Given the description of an element on the screen output the (x, y) to click on. 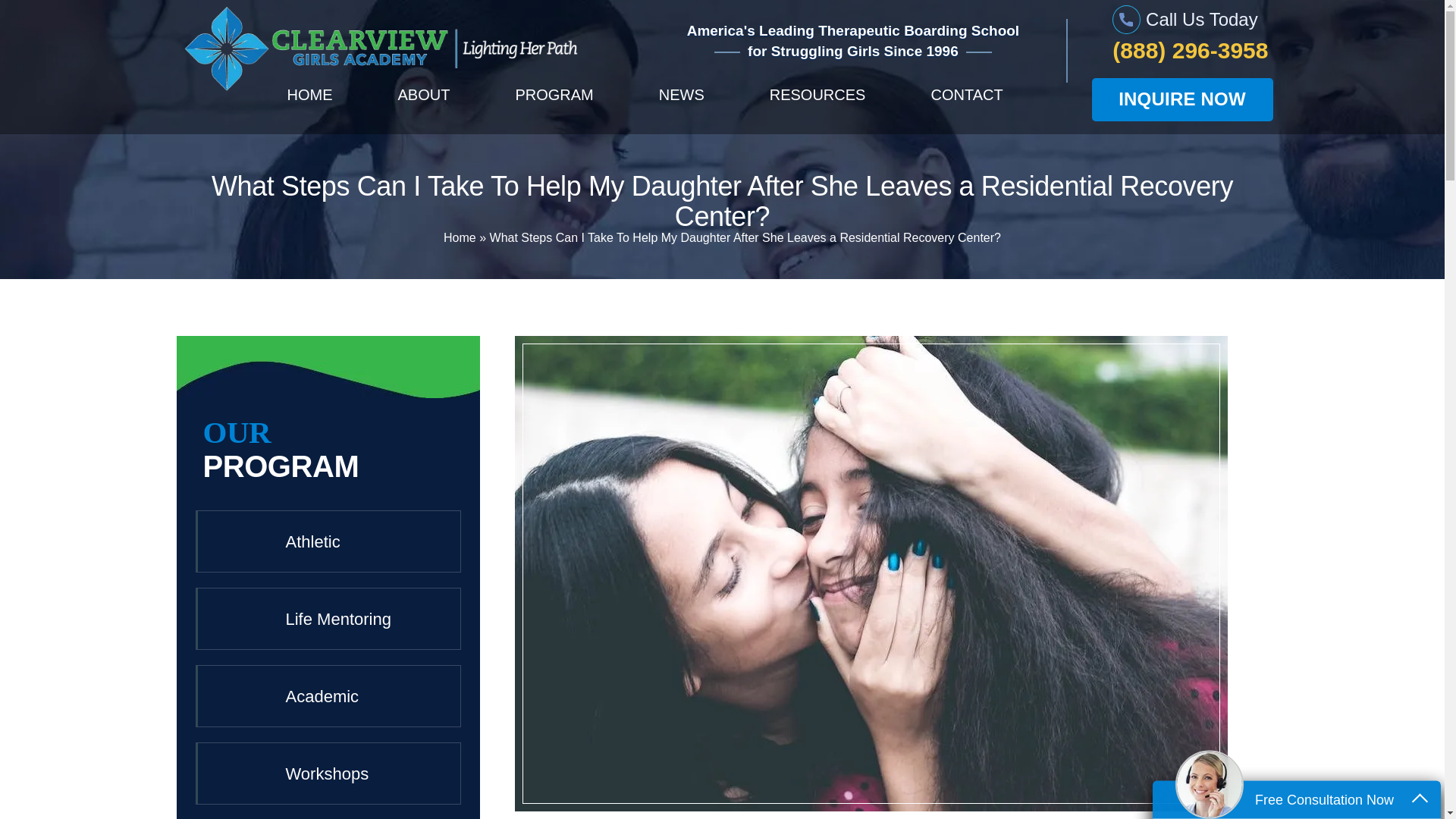
HOME (309, 104)
ABOUT (424, 104)
